Given the description of an element on the screen output the (x, y) to click on. 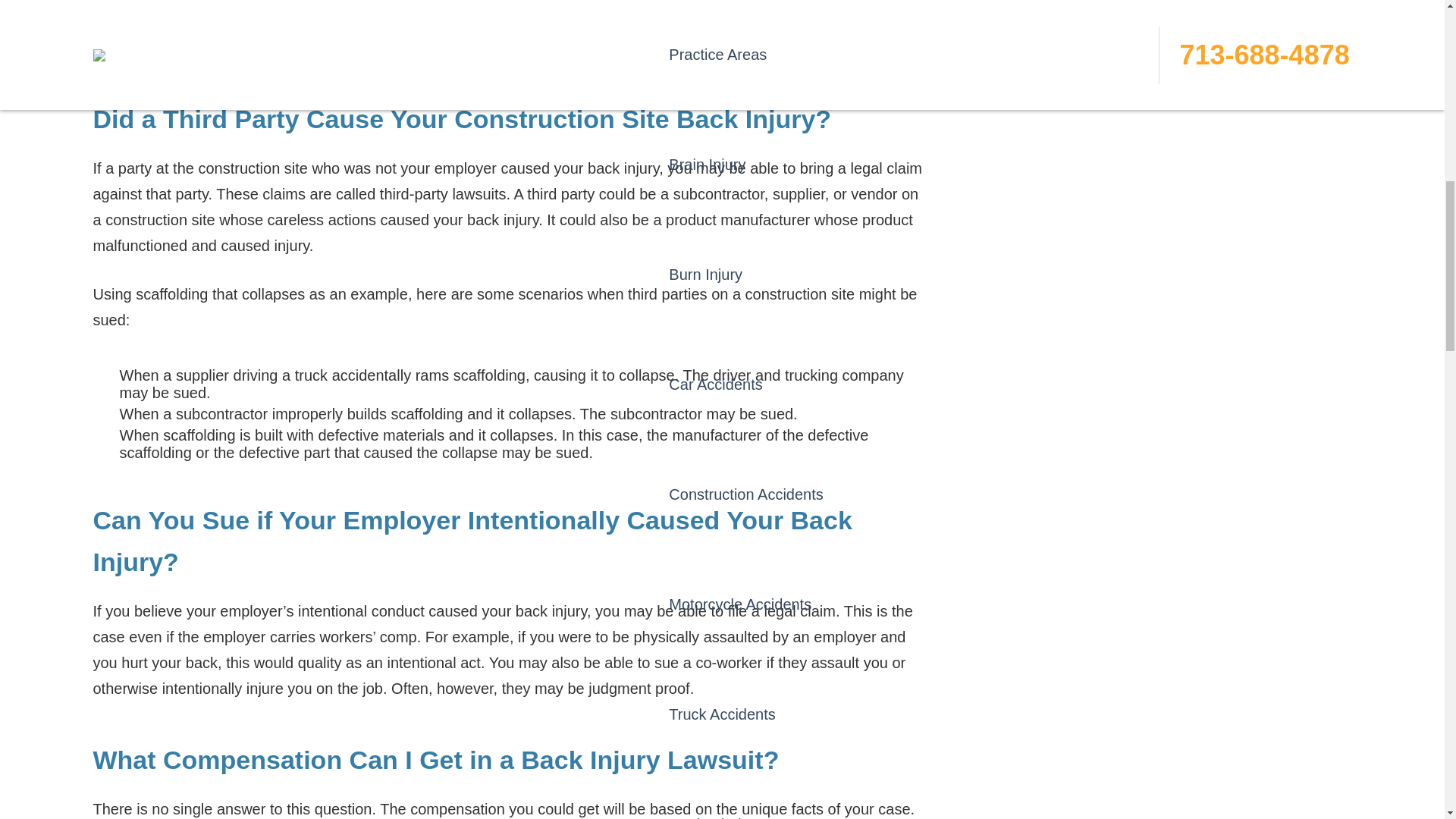
Wrongful Death (749, 225)
Other Legal Services (749, 335)
Testimonials (1043, 335)
Work Injuries (749, 30)
